Given the description of an element on the screen output the (x, y) to click on. 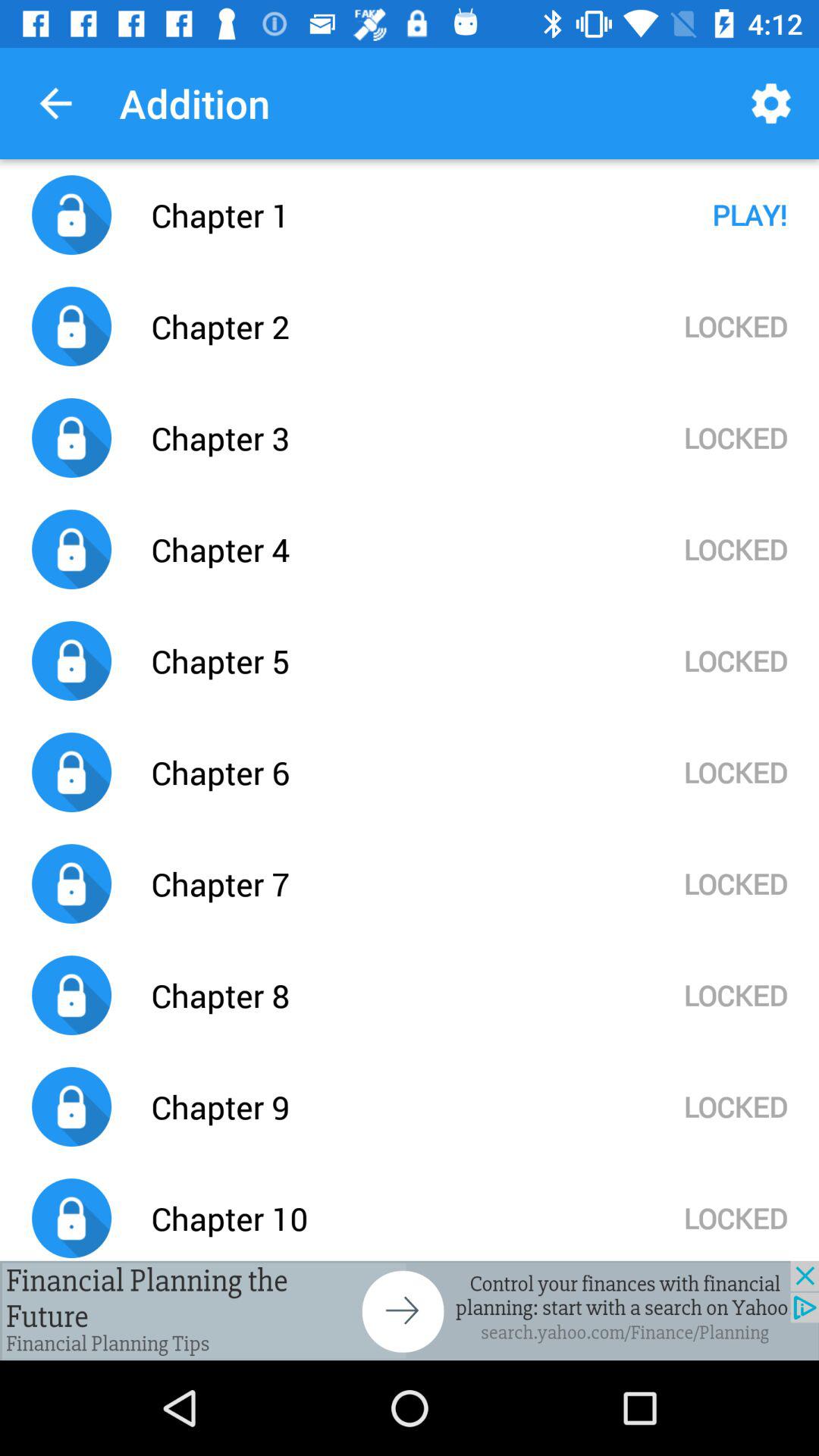
button setting icon (409, 1310)
